Given the description of an element on the screen output the (x, y) to click on. 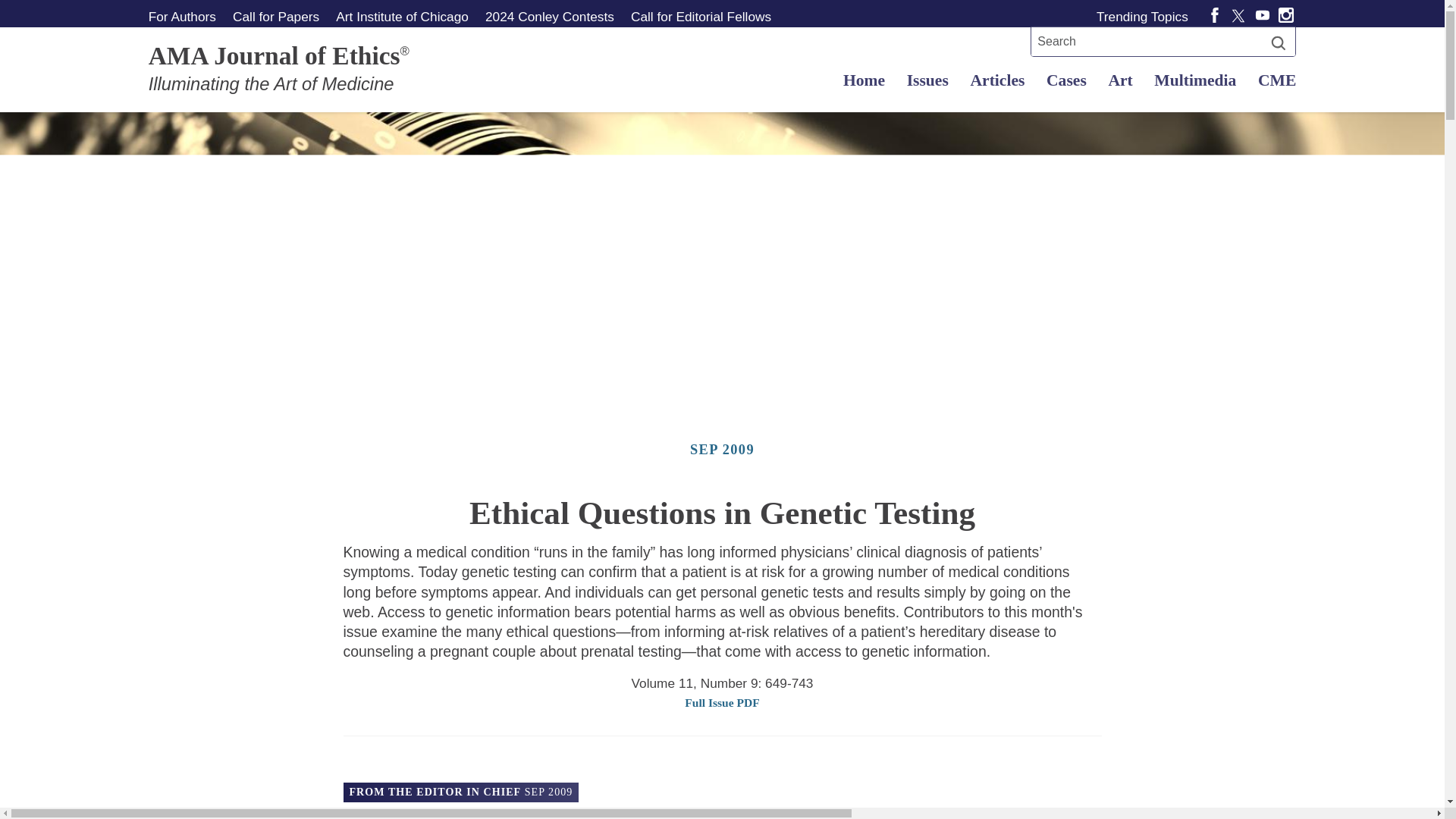
Art (1120, 80)
Call for Editorial Fellows (700, 15)
Full Issue PDF (721, 703)
Home (863, 80)
Search (1278, 42)
Art Institute of Chicago (403, 15)
Author information (185, 15)
Trending Topics (1145, 15)
2024 Conley Contests (549, 15)
Issues (927, 80)
See the upcoming theme issues (274, 15)
Call for Papers (274, 15)
Multimedia (1194, 80)
For Authors (185, 15)
